Given the description of an element on the screen output the (x, y) to click on. 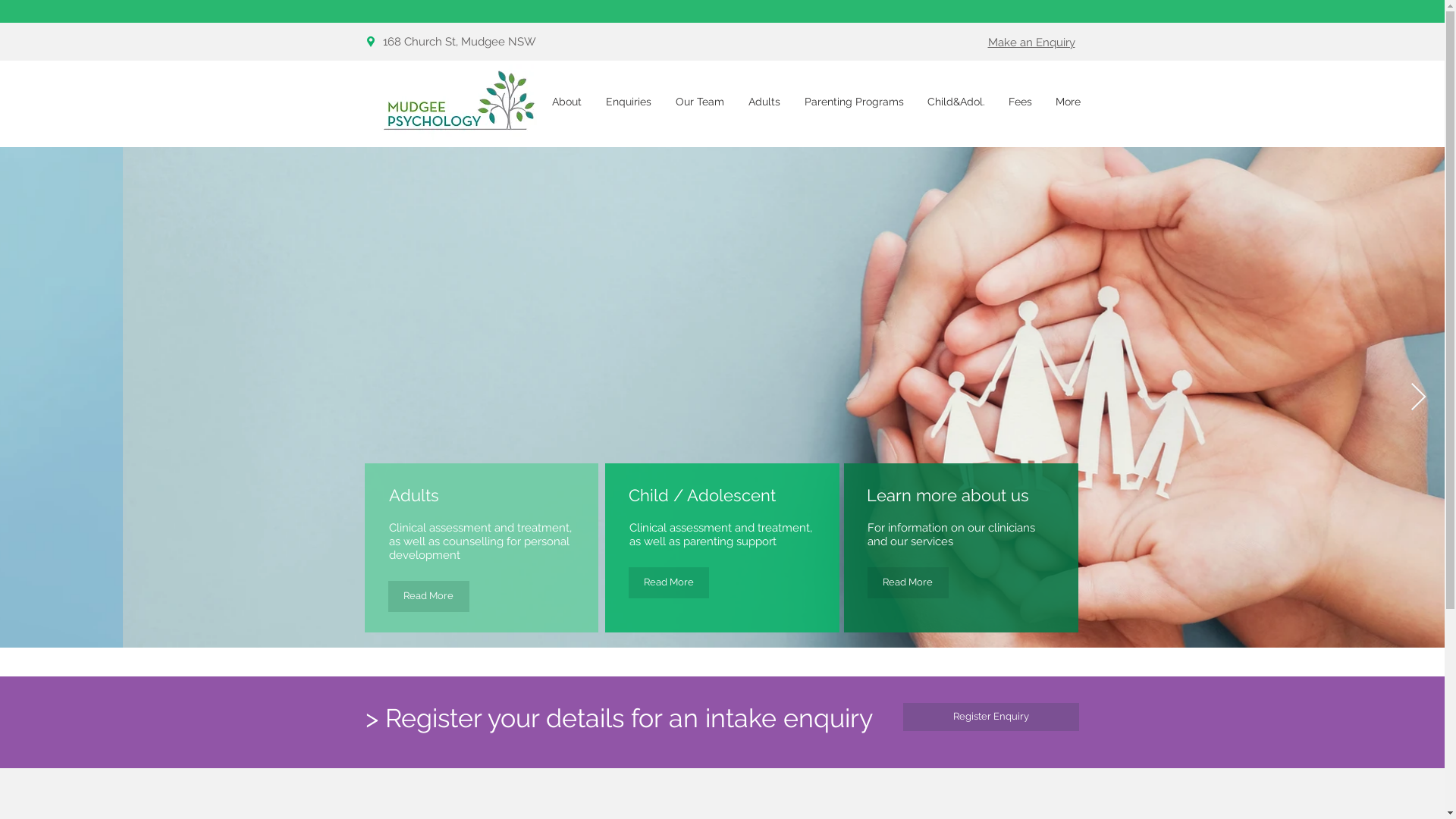
Child&Adol. Element type: text (956, 101)
Register Enquiry Element type: text (990, 716)
Read More Element type: text (667, 582)
Make an Enquiry Element type: text (1030, 42)
Enquiries Element type: text (627, 101)
Adults Element type: text (763, 101)
Fees Element type: text (1019, 101)
About Element type: text (566, 101)
Our Team Element type: text (698, 101)
Read More Element type: text (907, 582)
Read More Element type: text (428, 595)
Parenting Programs Element type: text (853, 101)
